Given the description of an element on the screen output the (x, y) to click on. 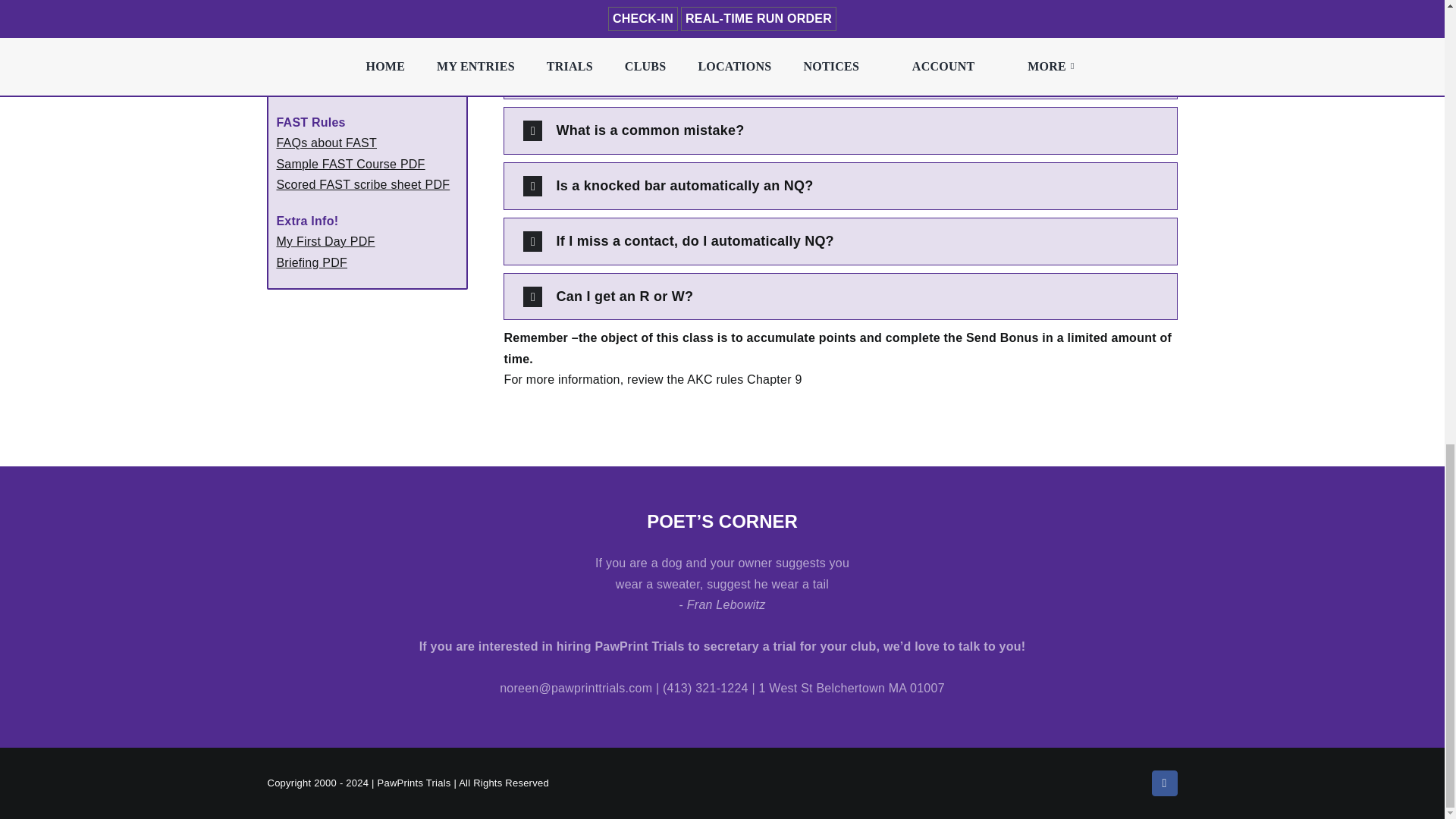
Sample FAST Course PDF (350, 164)
Sportsmanship (317, 85)
FAQs about FAST (326, 142)
Scoring Rules (314, 29)
Scored FAST scribe sheet PDF (362, 184)
My First Day PDF (325, 241)
Briefing PDF (311, 262)
